Given the description of an element on the screen output the (x, y) to click on. 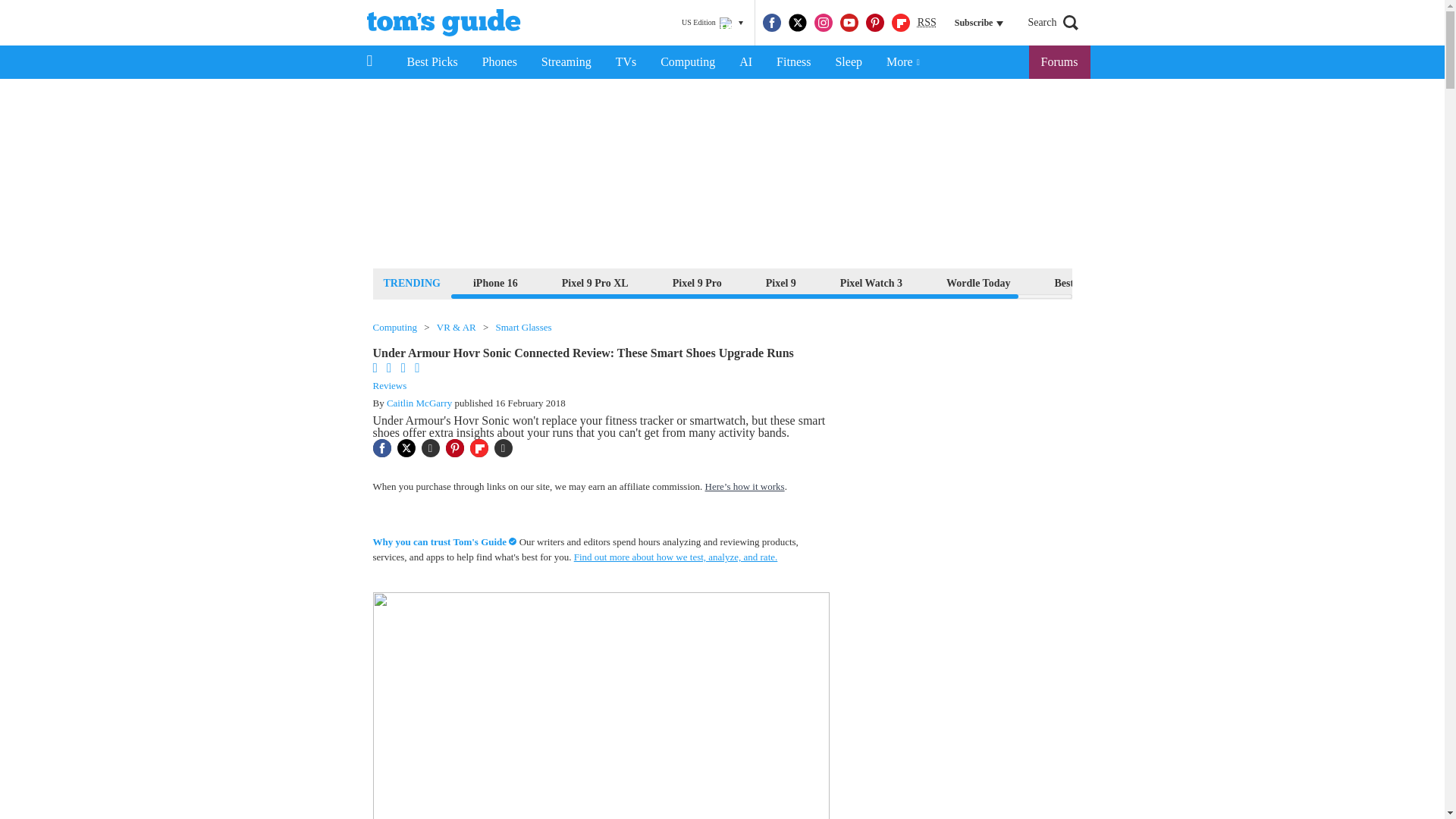
Fitness (793, 61)
AI (745, 61)
Really Simple Syndication (926, 21)
Best Picks (431, 61)
TVs (626, 61)
Computing (686, 61)
Streaming (566, 61)
US Edition (712, 22)
Phones (499, 61)
RSS (926, 22)
